Given the description of an element on the screen output the (x, y) to click on. 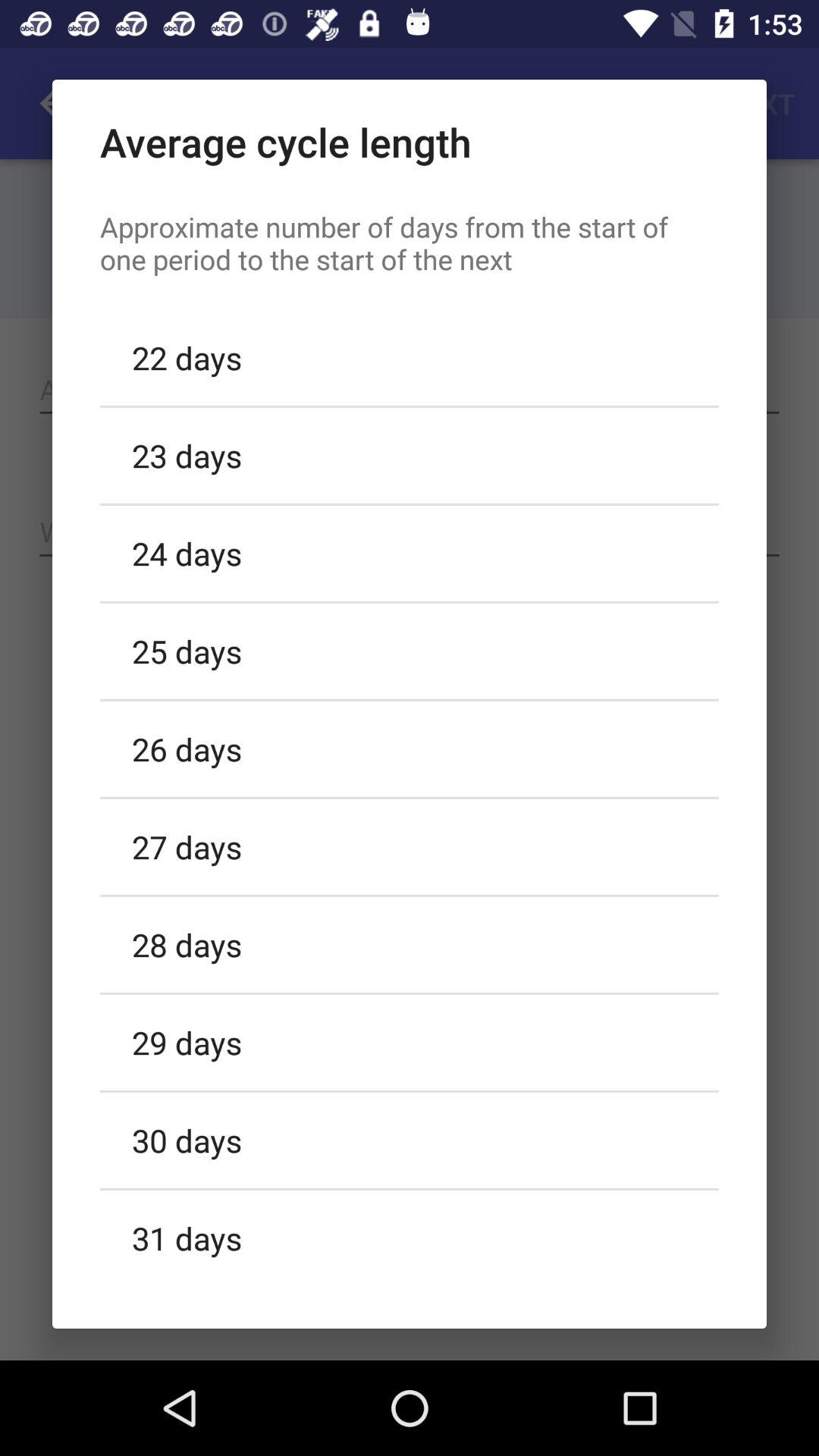
press icon above 25 days icon (409, 553)
